Given the description of an element on the screen output the (x, y) to click on. 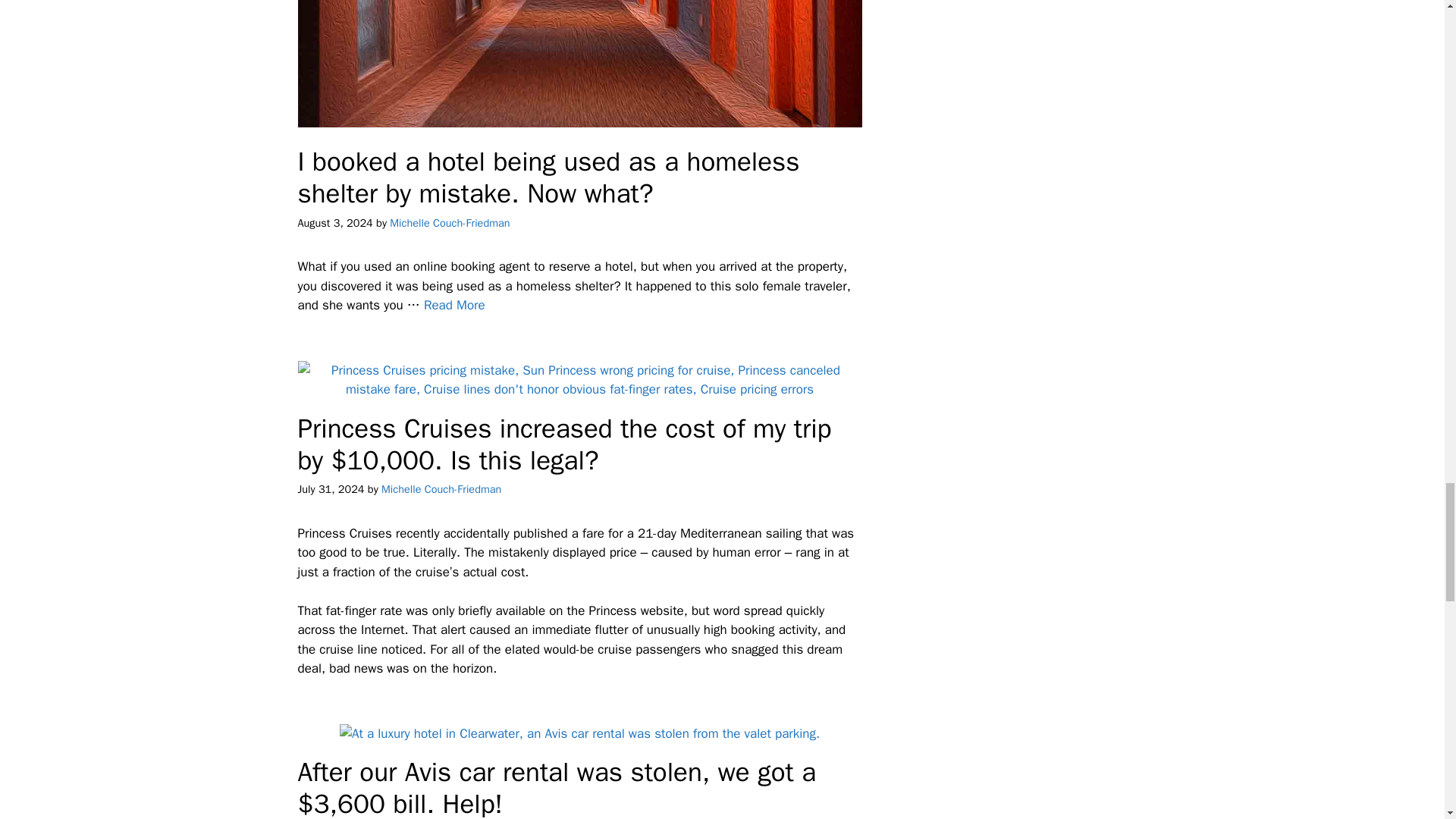
View all posts by Michelle Couch-Friedman (440, 489)
View all posts by Michelle Couch-Friedman (449, 223)
Michelle Couch-Friedman (449, 223)
Read More (453, 304)
